Given the description of an element on the screen output the (x, y) to click on. 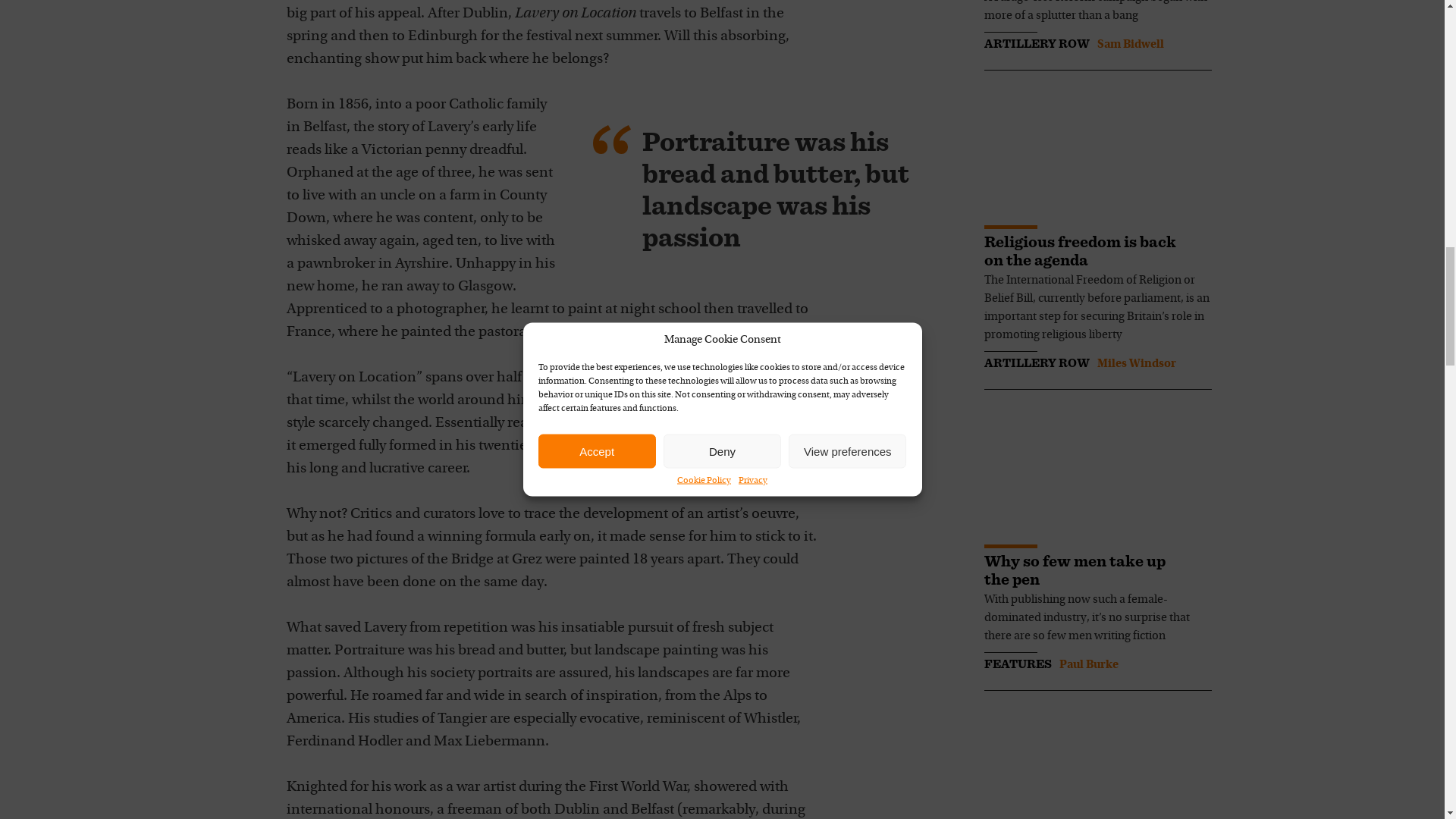
Posts by Paul Burke (1088, 664)
Posts by Miles Windsor (1135, 363)
Posts by Sam Bidwell (1129, 44)
